Given the description of an element on the screen output the (x, y) to click on. 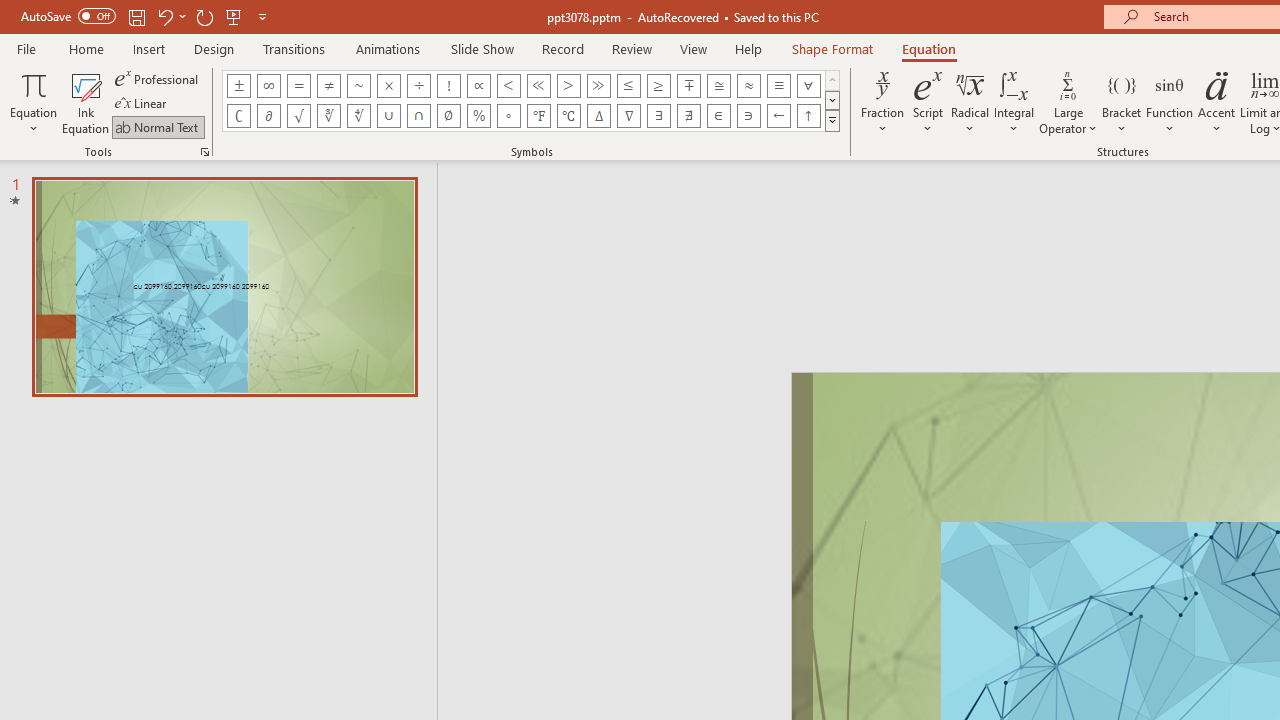
Equation Symbol Degrees Fahrenheit (538, 115)
Equation Symbol Intersection (418, 115)
Equation (928, 48)
Equation Symbol Union (388, 115)
Equation Symbols (832, 120)
Equation Symbol Percentage (478, 115)
Equation Symbol Proportional To (478, 85)
Equation Symbol Less Than (508, 85)
Equation Symbol Much Greater Than (598, 85)
Bracket (1121, 102)
